Given the description of an element on the screen output the (x, y) to click on. 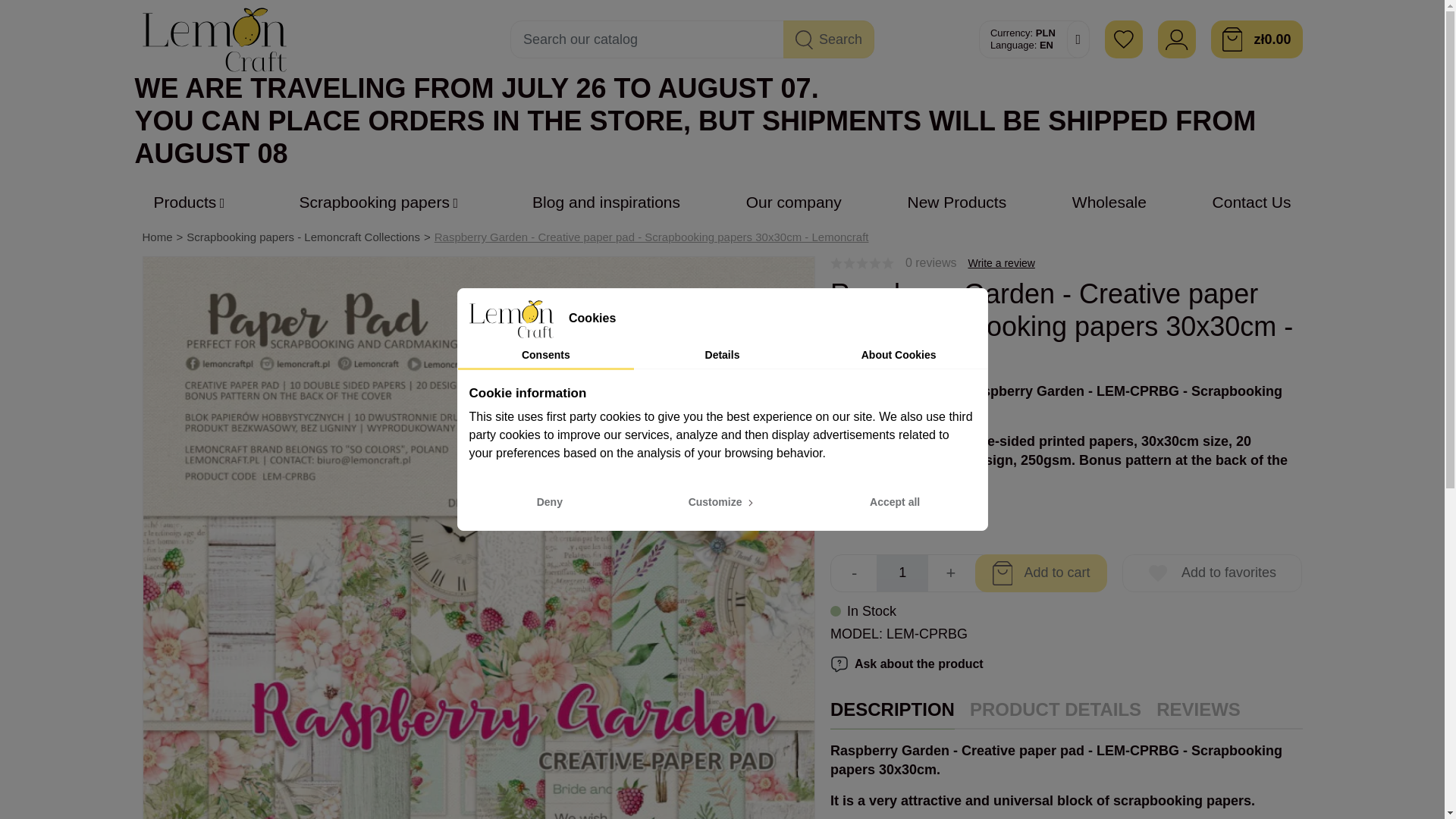
Search (829, 39)
Products (193, 202)
1 (902, 573)
